Given the description of an element on the screen output the (x, y) to click on. 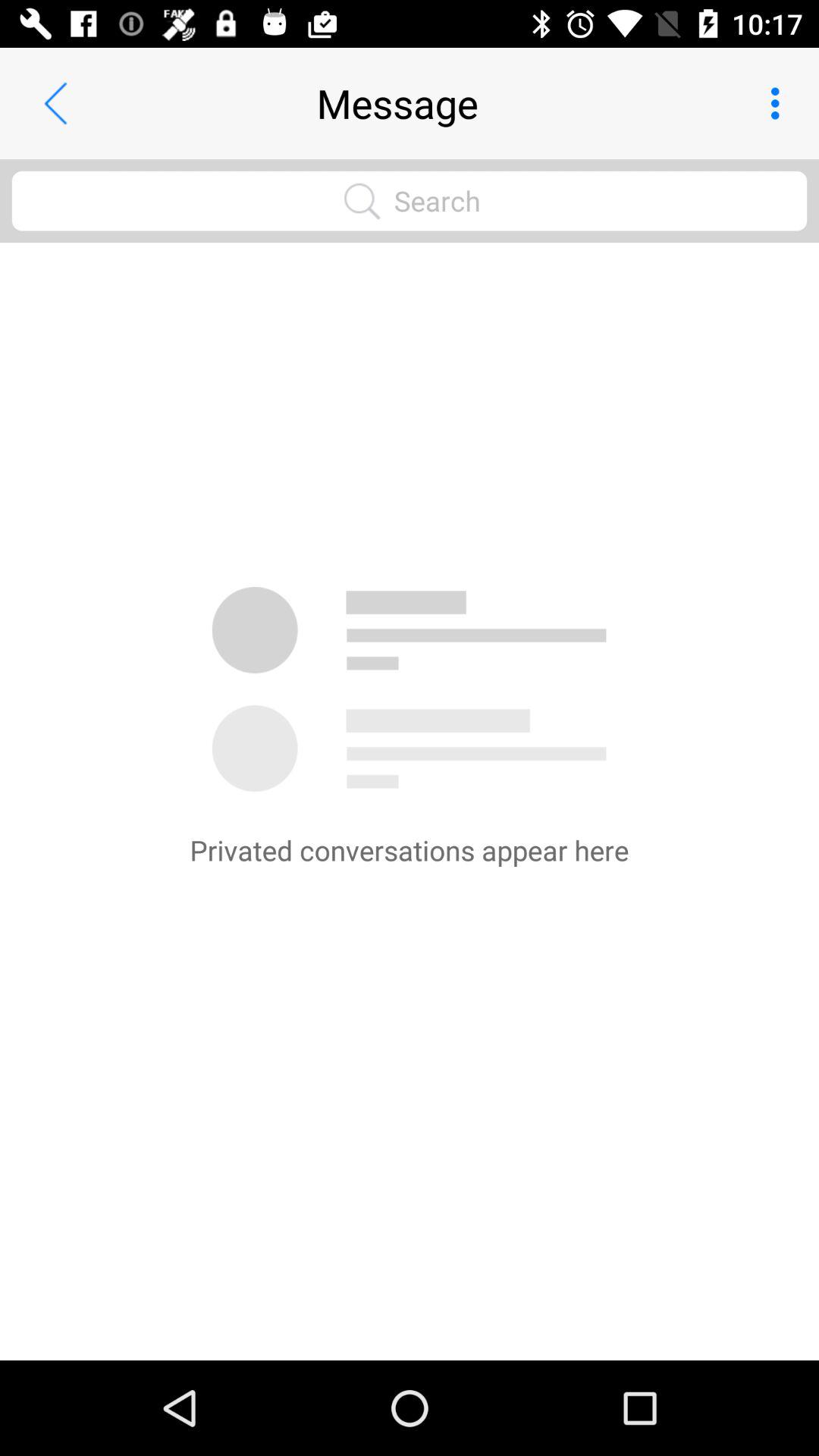
launch the item next to message app (55, 103)
